Given the description of an element on the screen output the (x, y) to click on. 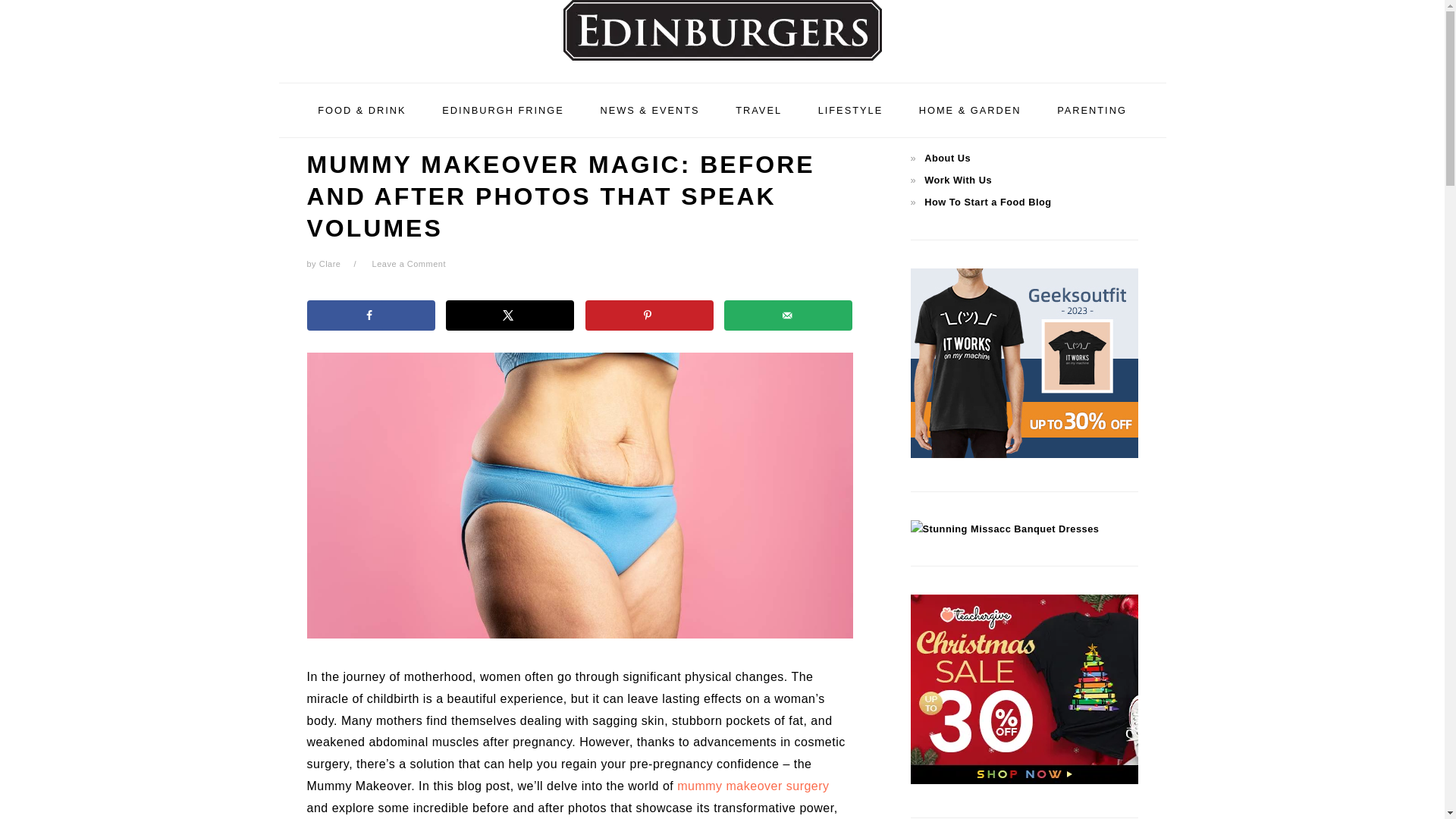
Share on X (509, 315)
Save to Pinterest (649, 315)
Missacc Wedding Dresses 2024 (1004, 528)
Send over email (787, 315)
PARENTING (1091, 109)
How To Start a Food Blog (987, 202)
Clare (329, 263)
About Us (947, 157)
Leave a Comment (408, 263)
LIFESTYLE (850, 109)
Work With Us (957, 179)
EDINBURGH FRINGE (502, 109)
Edinburgers (722, 38)
mummy makeover surgery (752, 785)
